Given the description of an element on the screen output the (x, y) to click on. 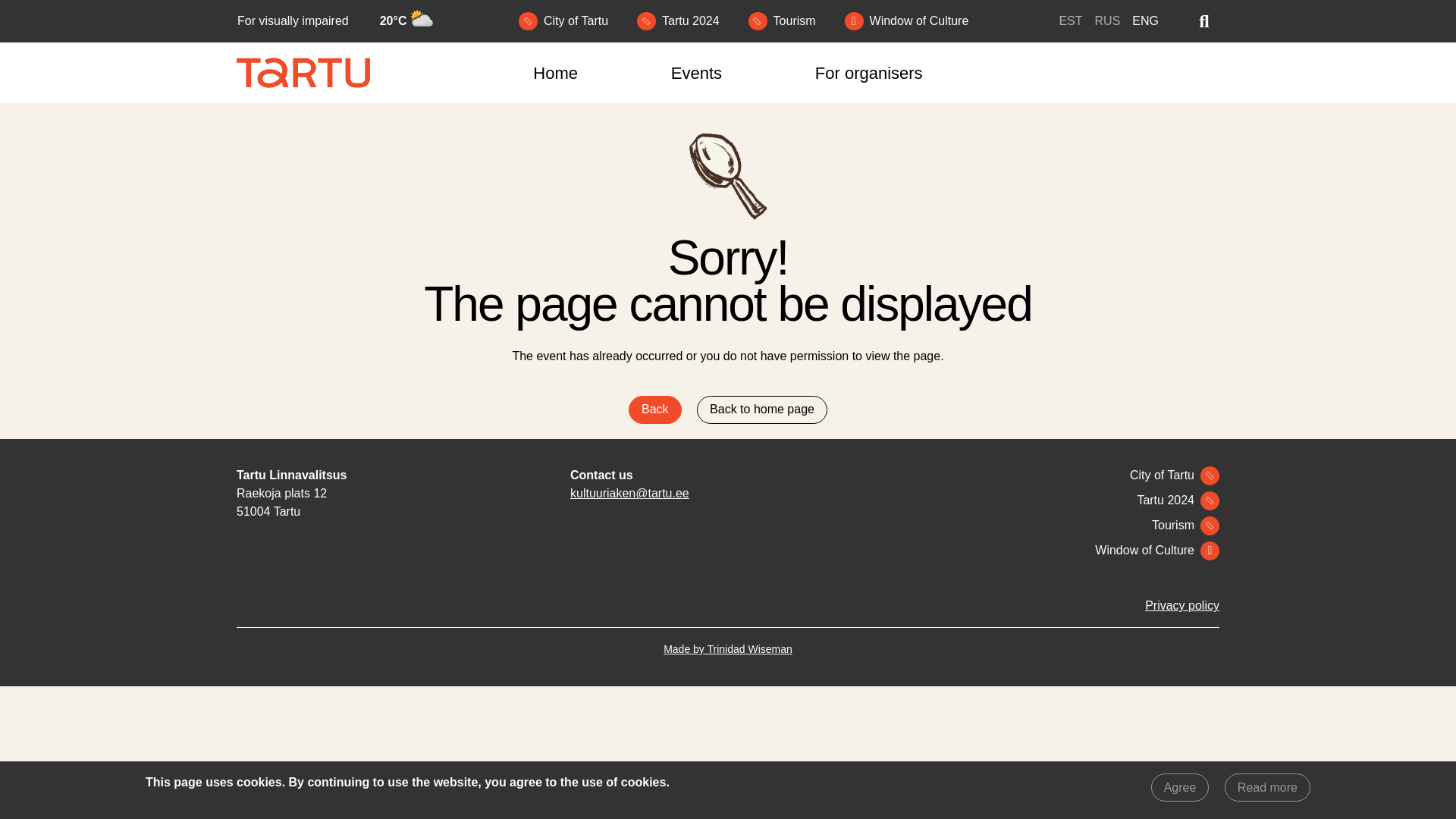
Tartu 2024 (681, 21)
EST (1069, 20)
Tourism (785, 21)
Events (695, 72)
For visually impaired (292, 21)
Privacy policy (1182, 604)
Made by Trinidad Wiseman (727, 648)
Back to home page (762, 409)
Read more (1267, 787)
ENG (1145, 20)
City of Tartu (566, 21)
Cloudy with clear spells (421, 21)
RUS (1107, 20)
City of Tartu (1172, 475)
For organisers (868, 72)
